Given the description of an element on the screen output the (x, y) to click on. 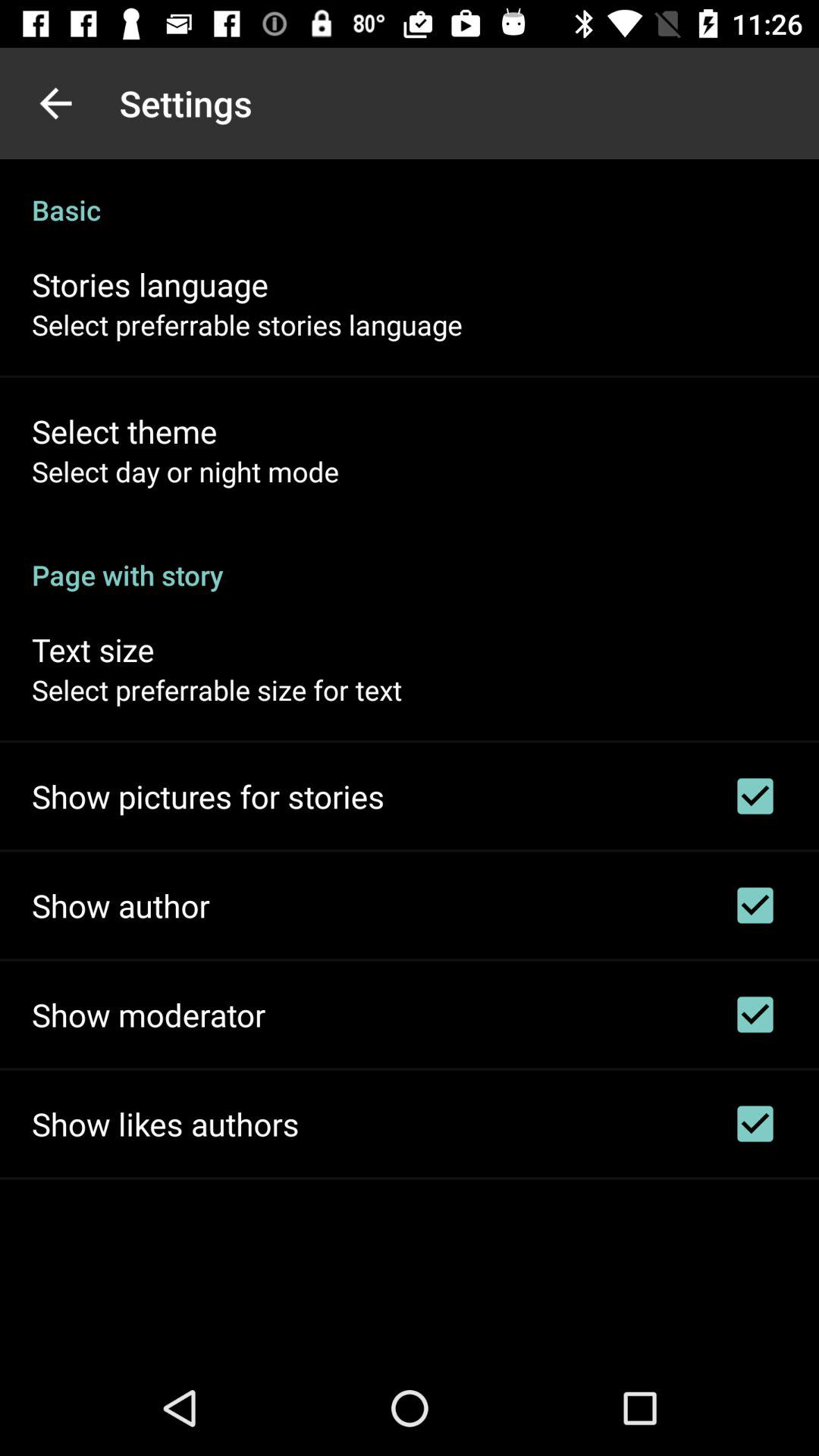
open item below show pictures for item (120, 905)
